Given the description of an element on the screen output the (x, y) to click on. 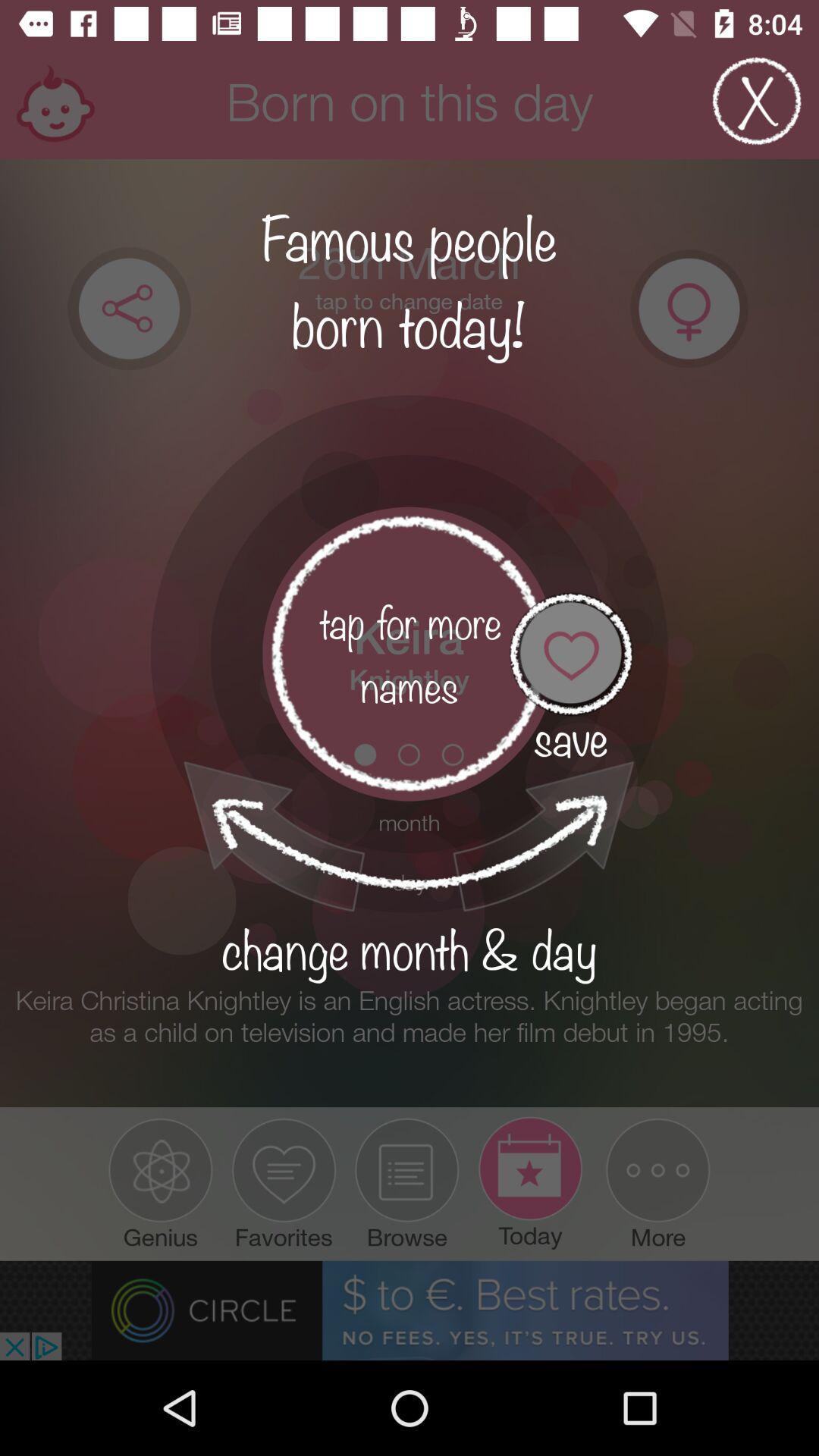
close page (757, 101)
